Given the description of an element on the screen output the (x, y) to click on. 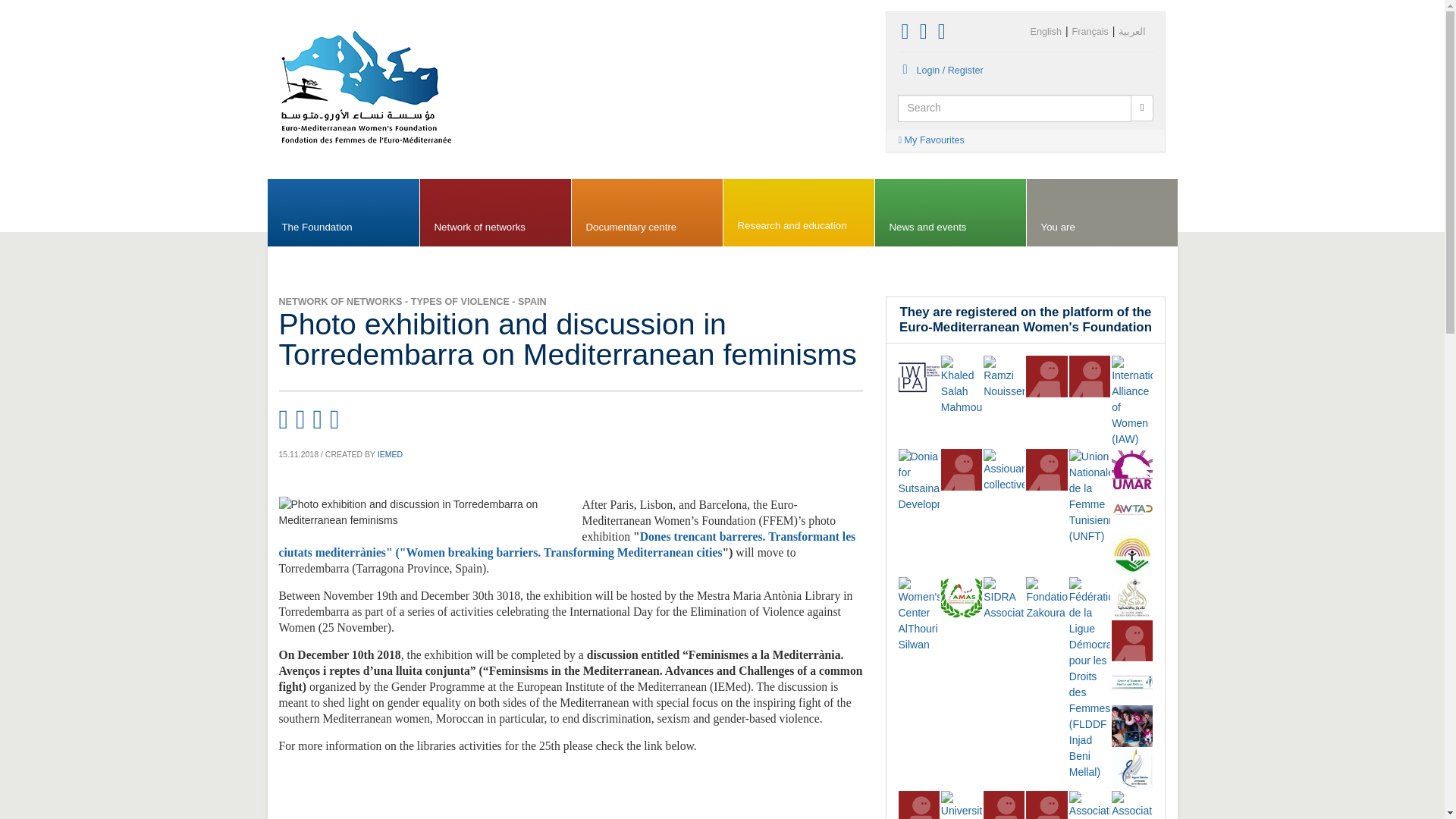
Research and education (799, 213)
You are (1101, 213)
Ramzi Nouisser! (1003, 377)
Network of networks (495, 213)
My Favourites (1024, 139)
Tunisian Association for Cultural Action! (1089, 375)
Women and Leadership! (1046, 468)
English (1045, 32)
Moroccan Association of Social Workers! (961, 597)
Assiouar collective! (1003, 470)
